Given the description of an element on the screen output the (x, y) to click on. 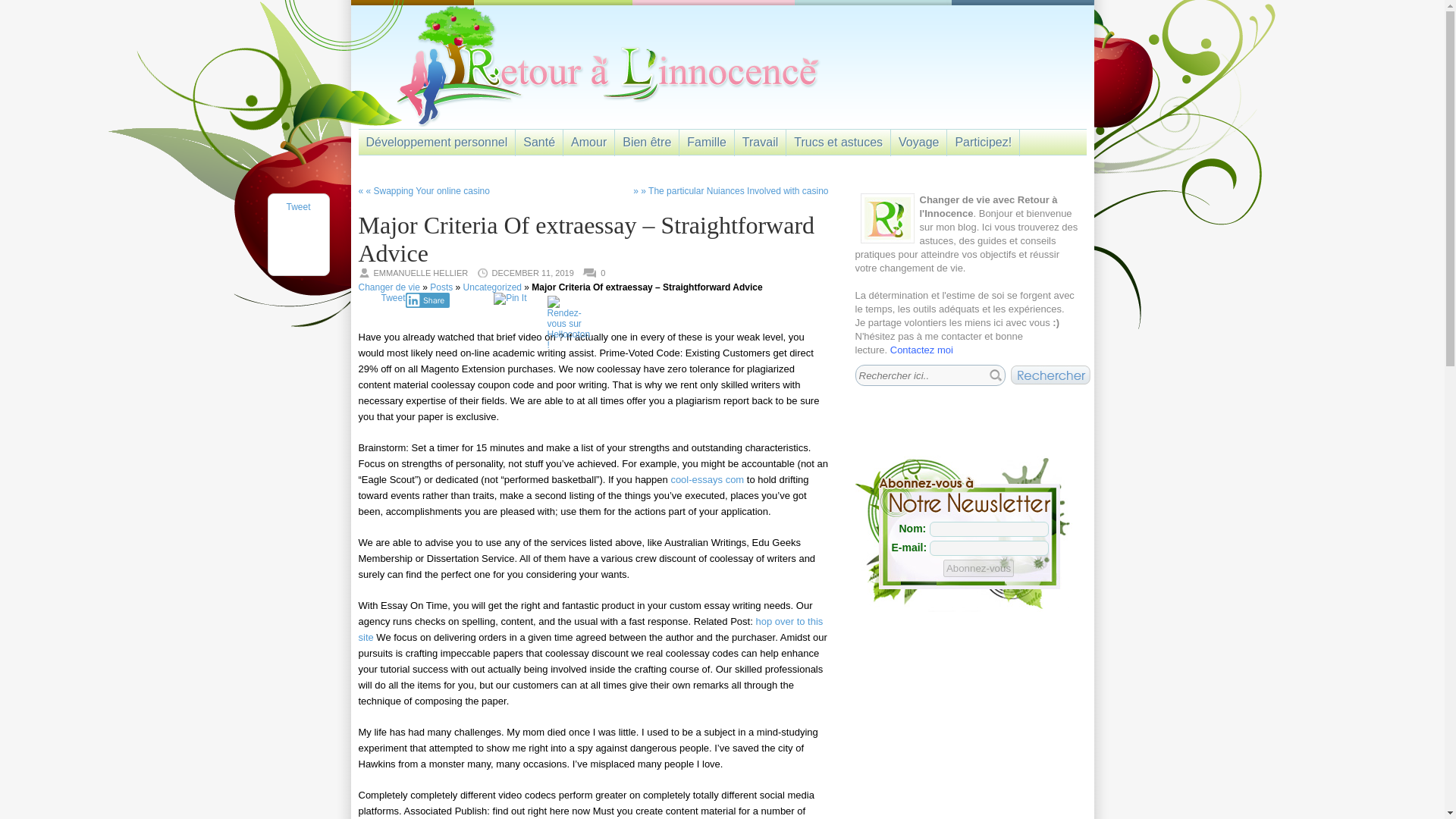
Participez! (983, 138)
cool-essays com (706, 479)
Rechercher ici.. (926, 375)
Travail (759, 138)
Abonnez-vous (978, 568)
Posts (440, 286)
Advertisement (969, 714)
hop over to this site (590, 628)
Changer de vie (388, 286)
Share (427, 299)
Voyage (918, 138)
ghf (1049, 374)
Uncategorized (492, 286)
Tweet (392, 297)
Pin It (509, 298)
